Given the description of an element on the screen output the (x, y) to click on. 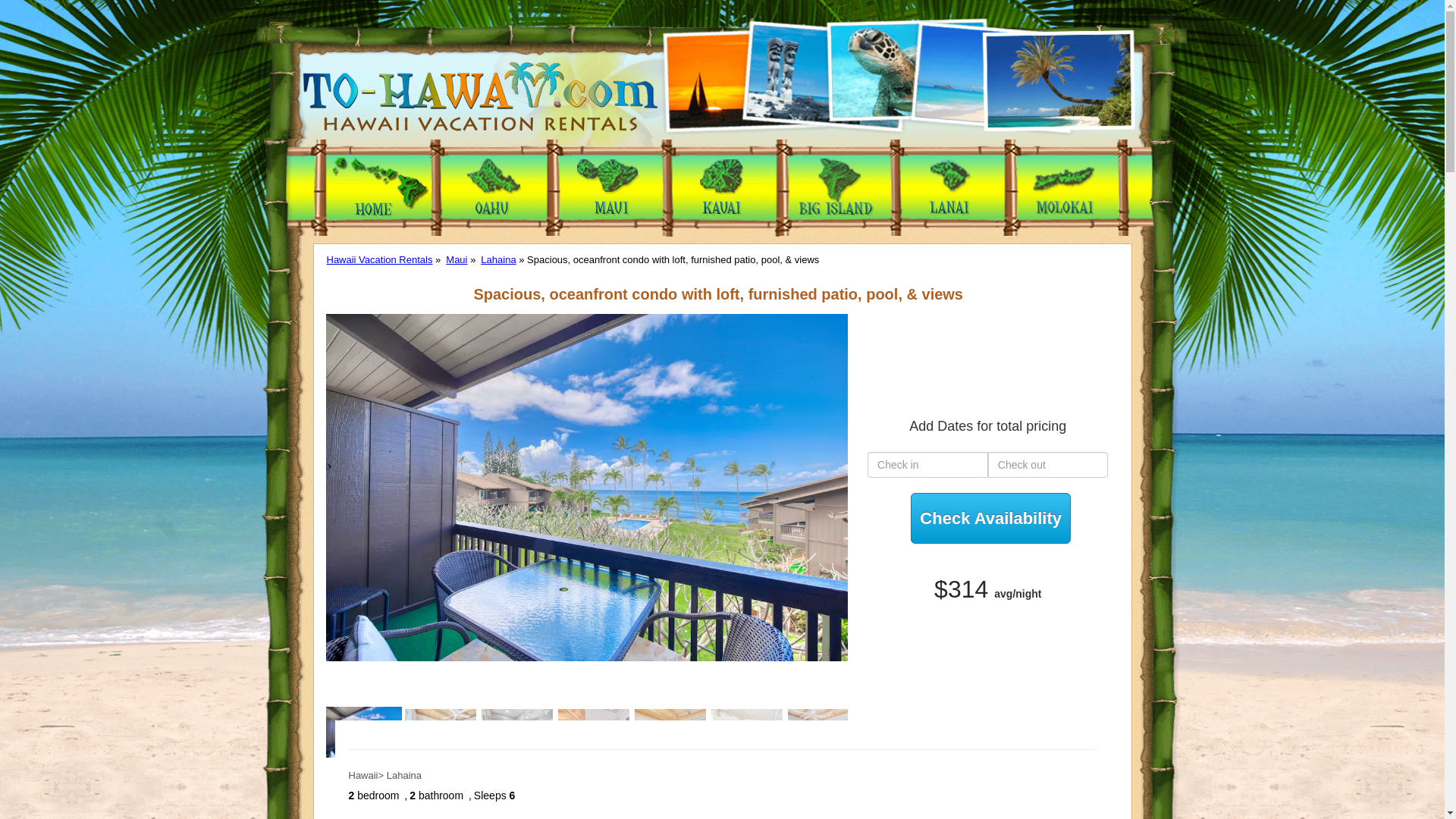
Maui (456, 259)
Lahaina (497, 259)
Check Availability (990, 518)
Hawaii Vacation Rentals (379, 259)
